Given the description of an element on the screen output the (x, y) to click on. 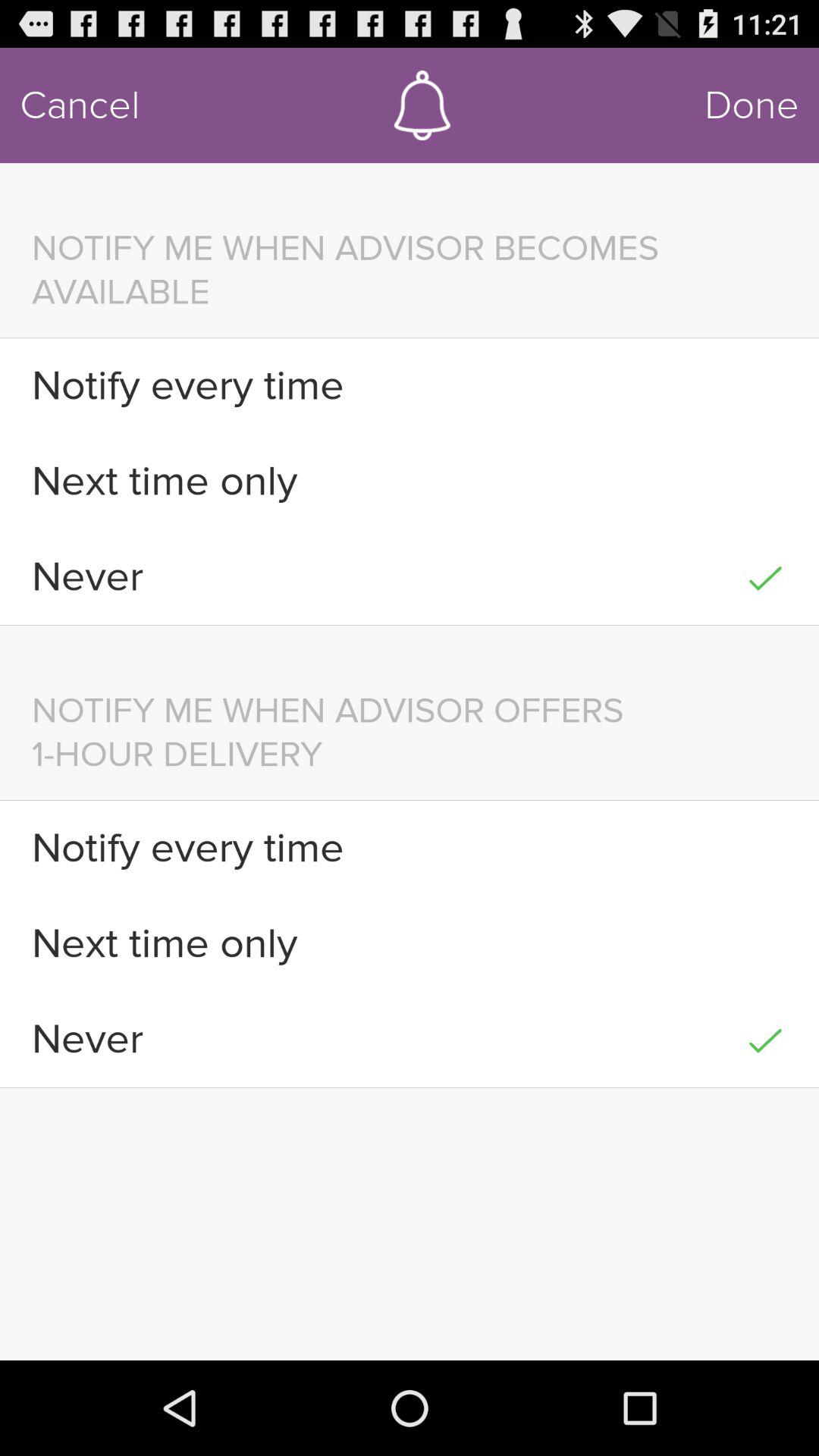
turn on icon to the right of the next time only (765, 481)
